Given the description of an element on the screen output the (x, y) to click on. 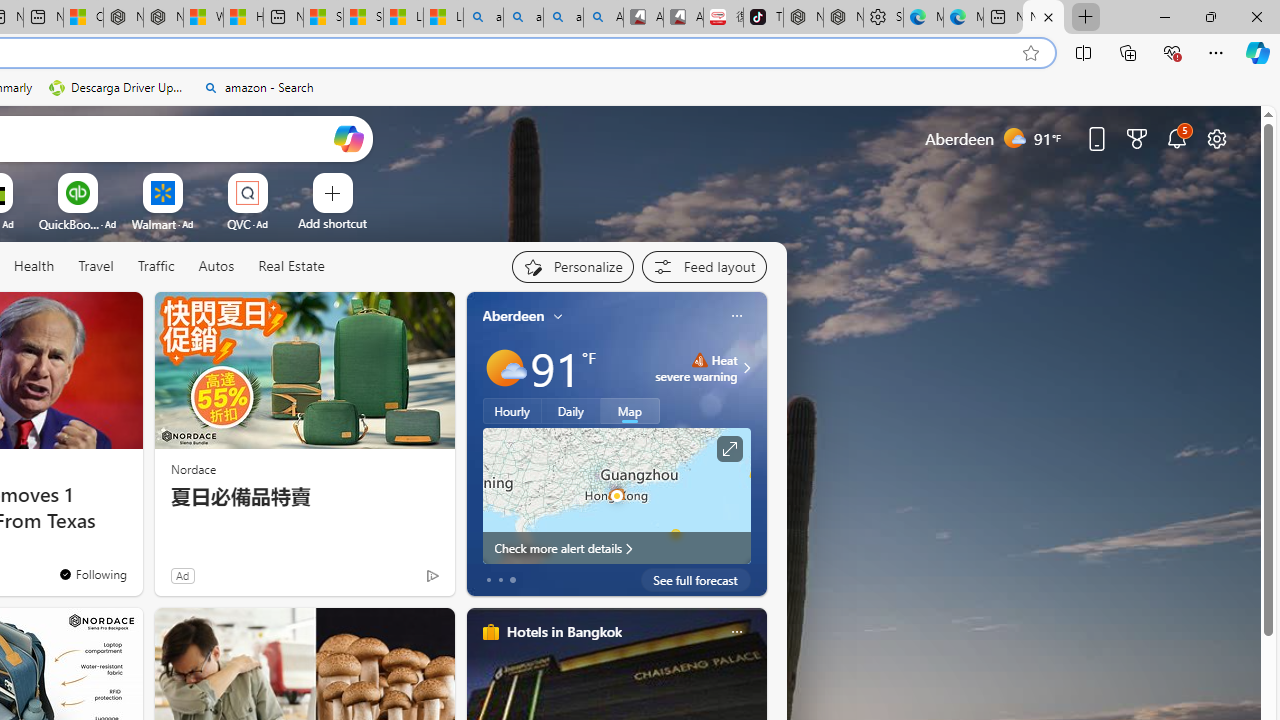
Settings (883, 17)
Aberdeen (513, 315)
tab-0 (488, 579)
Health (34, 265)
Travel (95, 267)
Real Estate (290, 267)
Larger map  (616, 495)
You're following The Weather Channel (390, 579)
amazon - Search Images (563, 17)
